Given the description of an element on the screen output the (x, y) to click on. 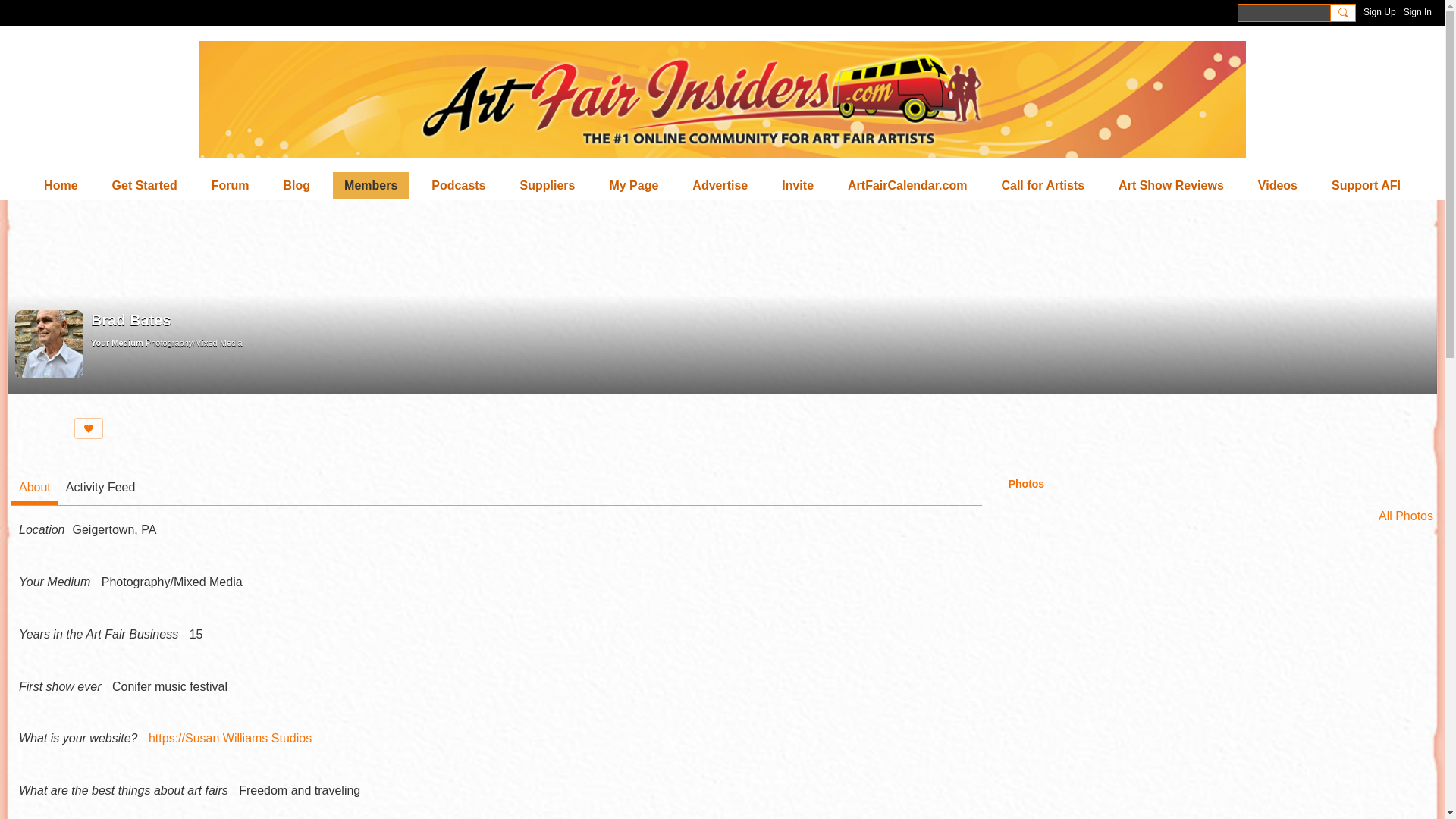
Invite (797, 185)
Sign Up (1379, 12)
Advertise (719, 185)
Blog (296, 185)
Sign In (1417, 12)
Forum (230, 185)
Members (371, 185)
Support AFI (1366, 185)
Home (60, 185)
Get Started (144, 185)
Suppliers (547, 185)
My Page (632, 185)
Art Show Reviews (1170, 185)
Podcasts (458, 185)
Like (88, 427)
